Given the description of an element on the screen output the (x, y) to click on. 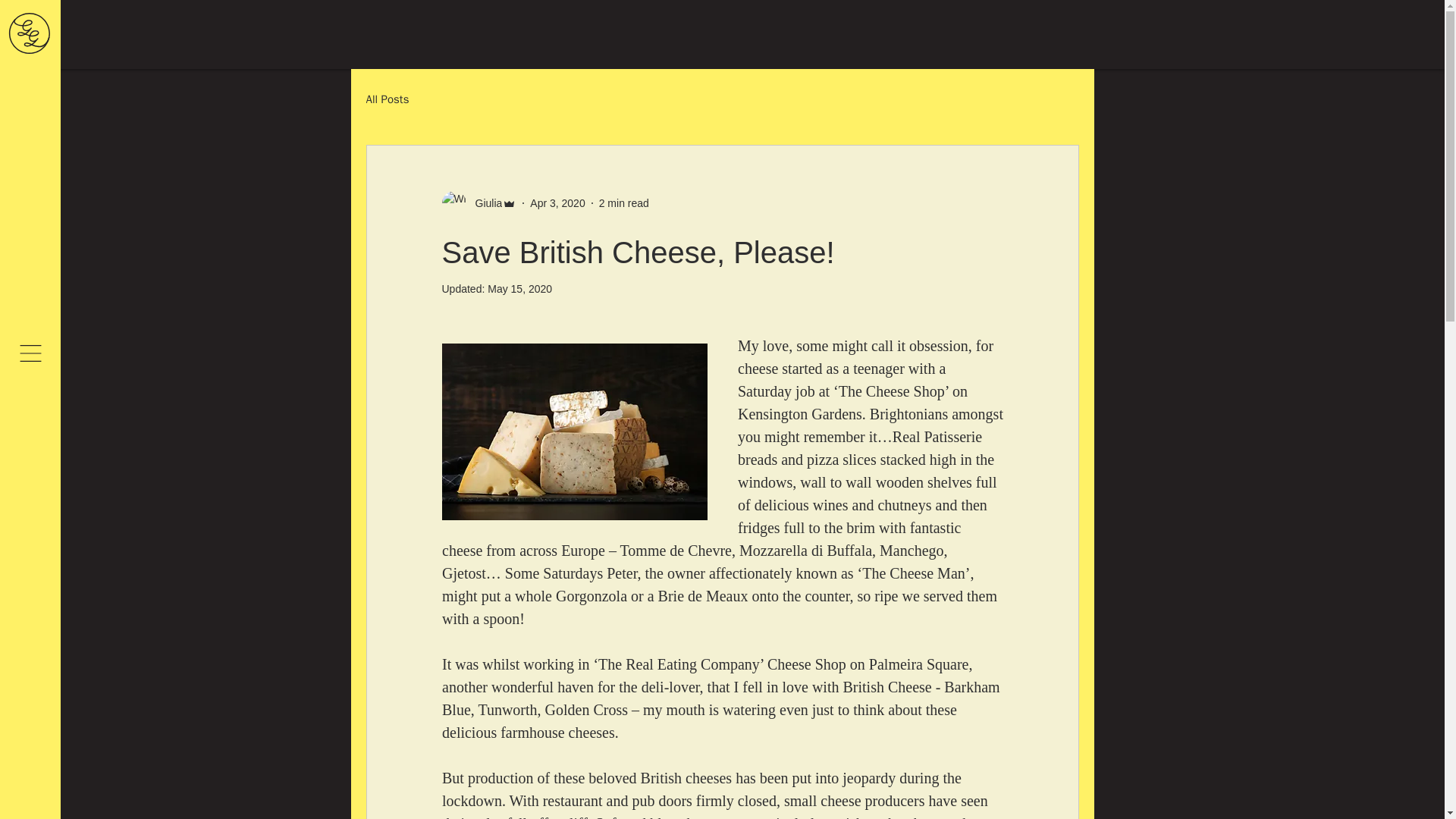
All Posts (387, 99)
2 min read (623, 203)
May 15, 2020 (519, 288)
Giulia (478, 202)
Apr 3, 2020 (557, 203)
Giulia (483, 203)
